Given the description of an element on the screen output the (x, y) to click on. 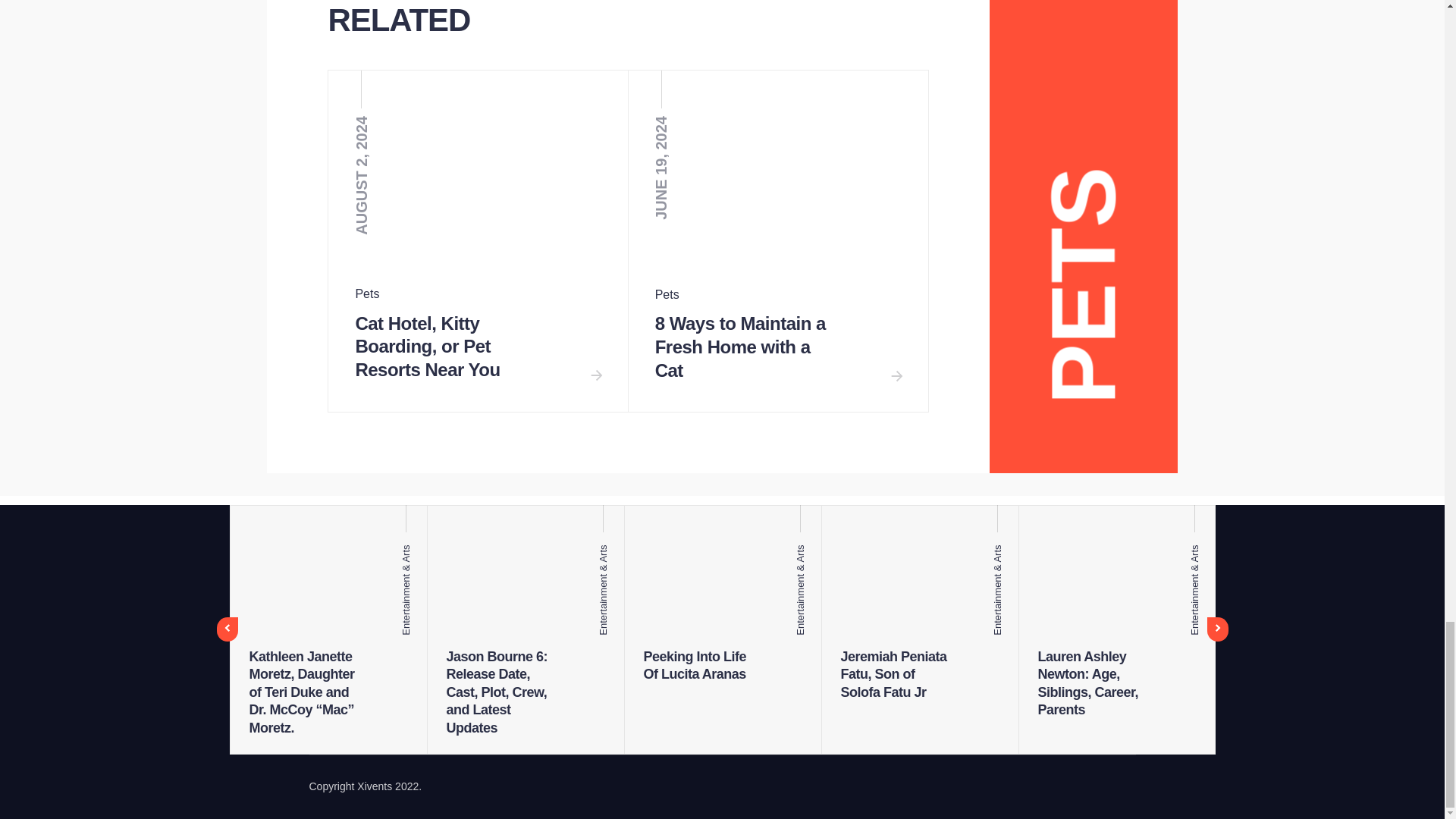
Pets (366, 293)
Cat Hotel, Kitty Boarding, or Pet Resorts Near You (427, 348)
Pets (667, 294)
